Given the description of an element on the screen output the (x, y) to click on. 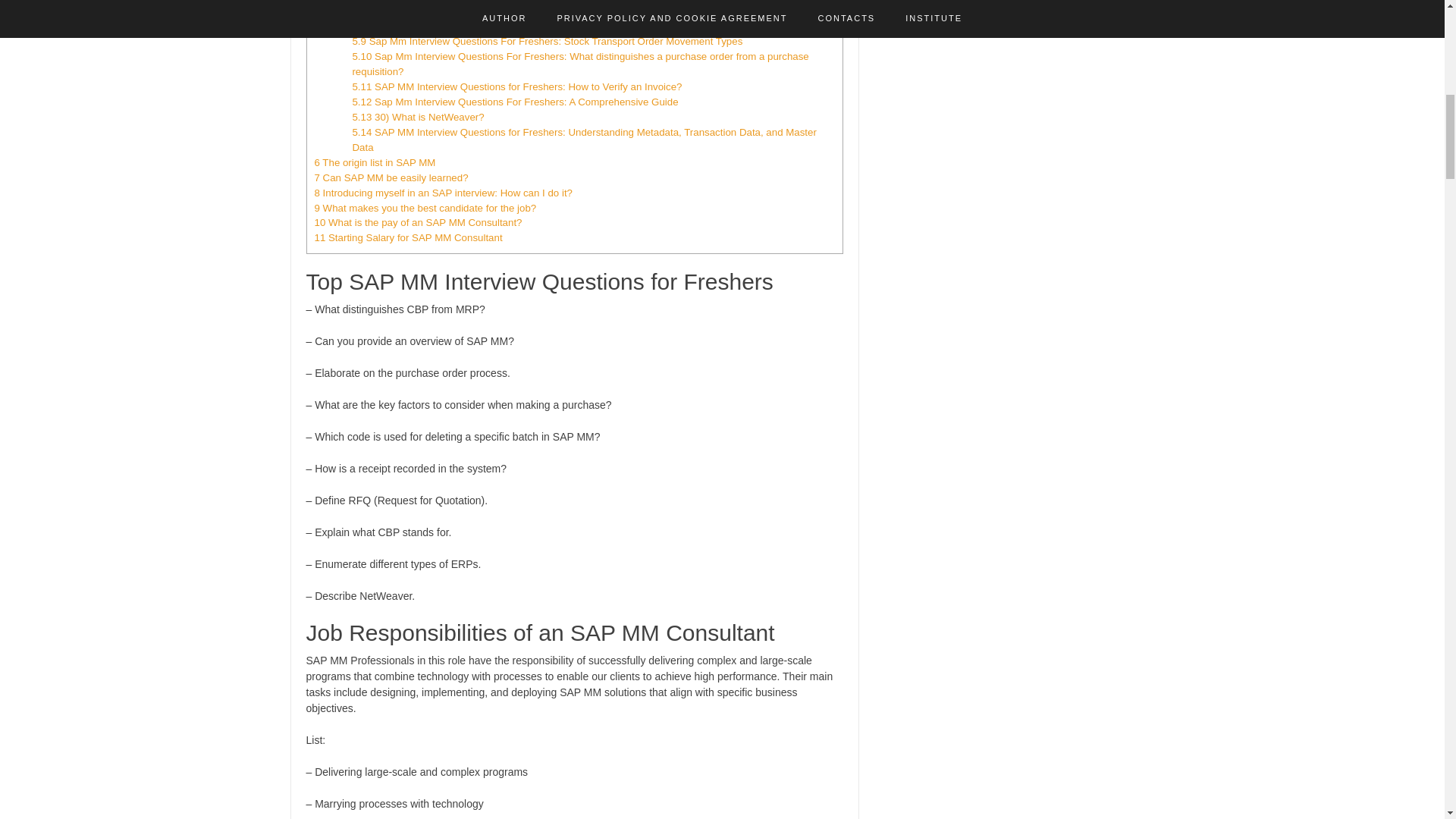
5.8 What is the final step in the procurement cycle? (466, 25)
7 Can SAP MM be easily learned? (390, 177)
6 The origin list in SAP MM (374, 162)
8 Introducing myself in an SAP interview: How can I do it? (443, 193)
